Given the description of an element on the screen output the (x, y) to click on. 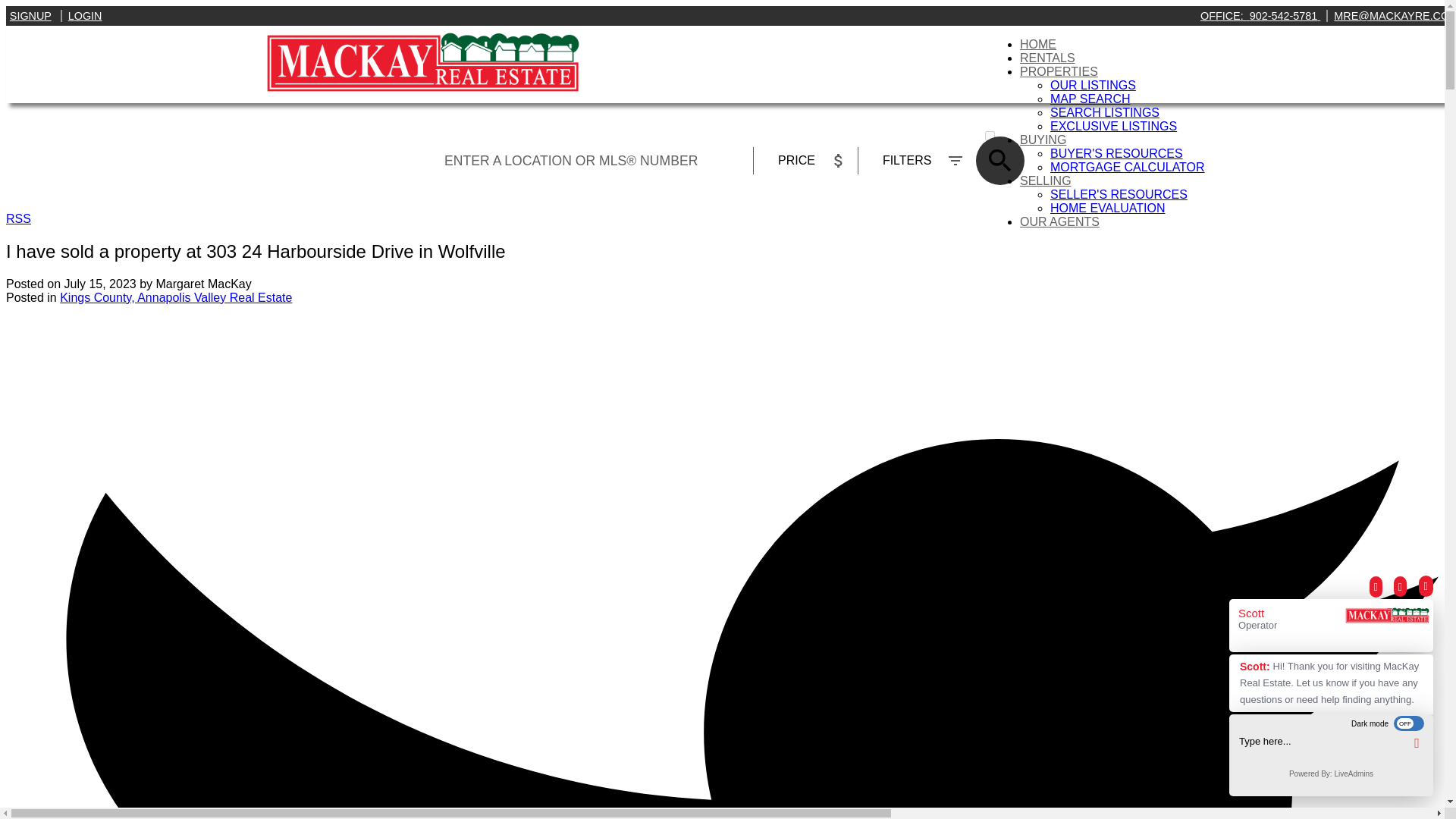
SELLING (1045, 180)
OUR LISTINGS (1092, 84)
OFFICE:  902-542-5781 (1259, 15)
EXCLUSIVE LISTINGS (1112, 125)
true (989, 135)
RENTALS (1047, 57)
OUR AGENTS (1059, 221)
Kings County, Annapolis Valley Real Estate (175, 297)
HOME EVALUATION (1106, 207)
SEARCH LISTINGS (1103, 112)
SELLER'S RESOURCES (1118, 194)
BUYING (1042, 139)
PROPERTIES (1058, 71)
MAP SEARCH (1090, 98)
HOME (1038, 43)
